Given the description of an element on the screen output the (x, y) to click on. 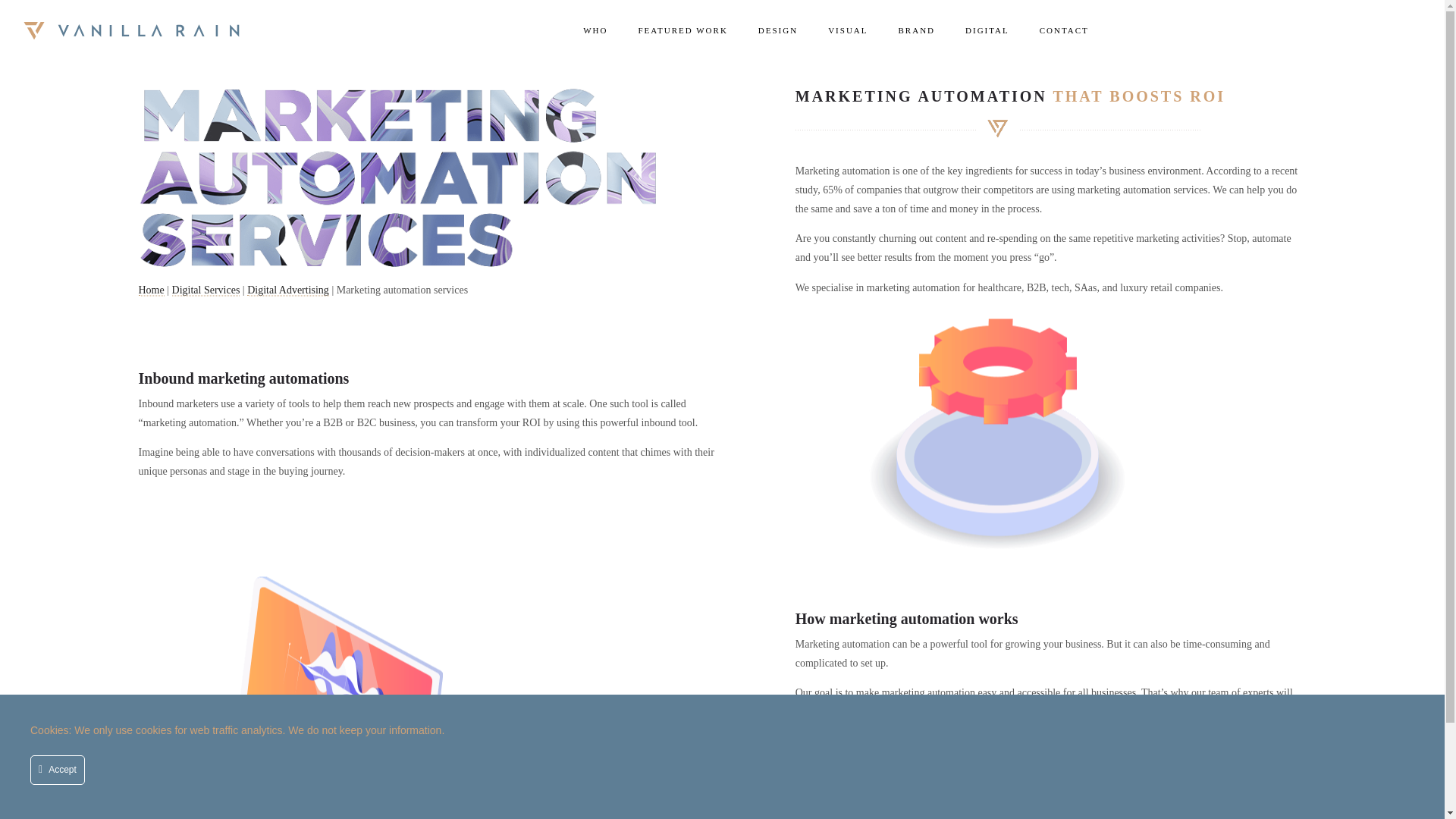
Digital Services (987, 30)
DESIGN (777, 30)
WHO (595, 30)
Home (150, 289)
CONTACT (1064, 30)
DIGITAL (987, 30)
Design Services (777, 30)
Digital Advertising (288, 289)
BRAND (916, 30)
FEATURED WORK (682, 30)
Digital Services (205, 289)
Brand Services (916, 30)
VISUAL (847, 30)
